Given the description of an element on the screen output the (x, y) to click on. 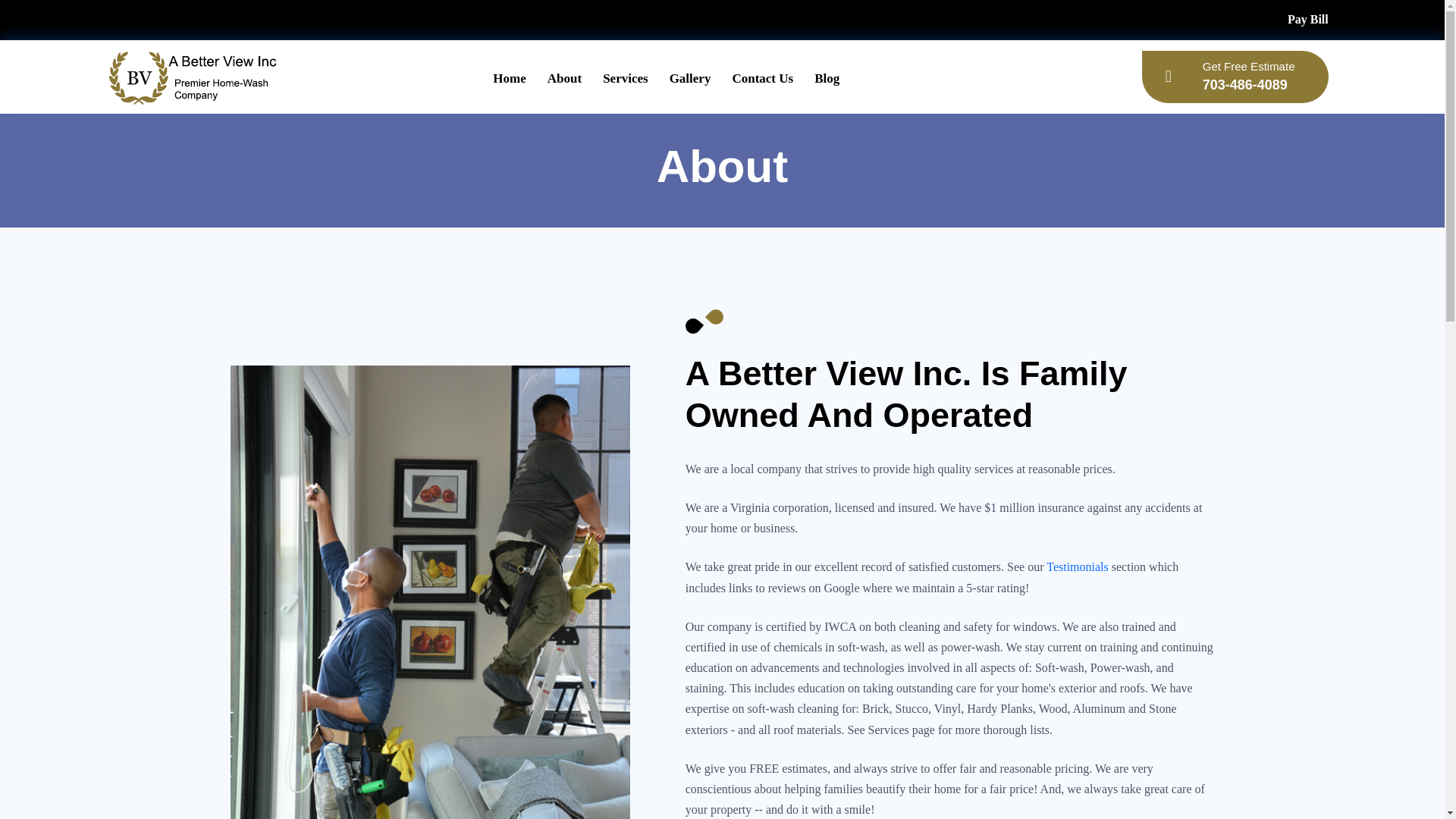
Testimonials (1077, 566)
Services (1235, 77)
Contact Us (625, 78)
Pay Bill (761, 78)
